Given the description of an element on the screen output the (x, y) to click on. 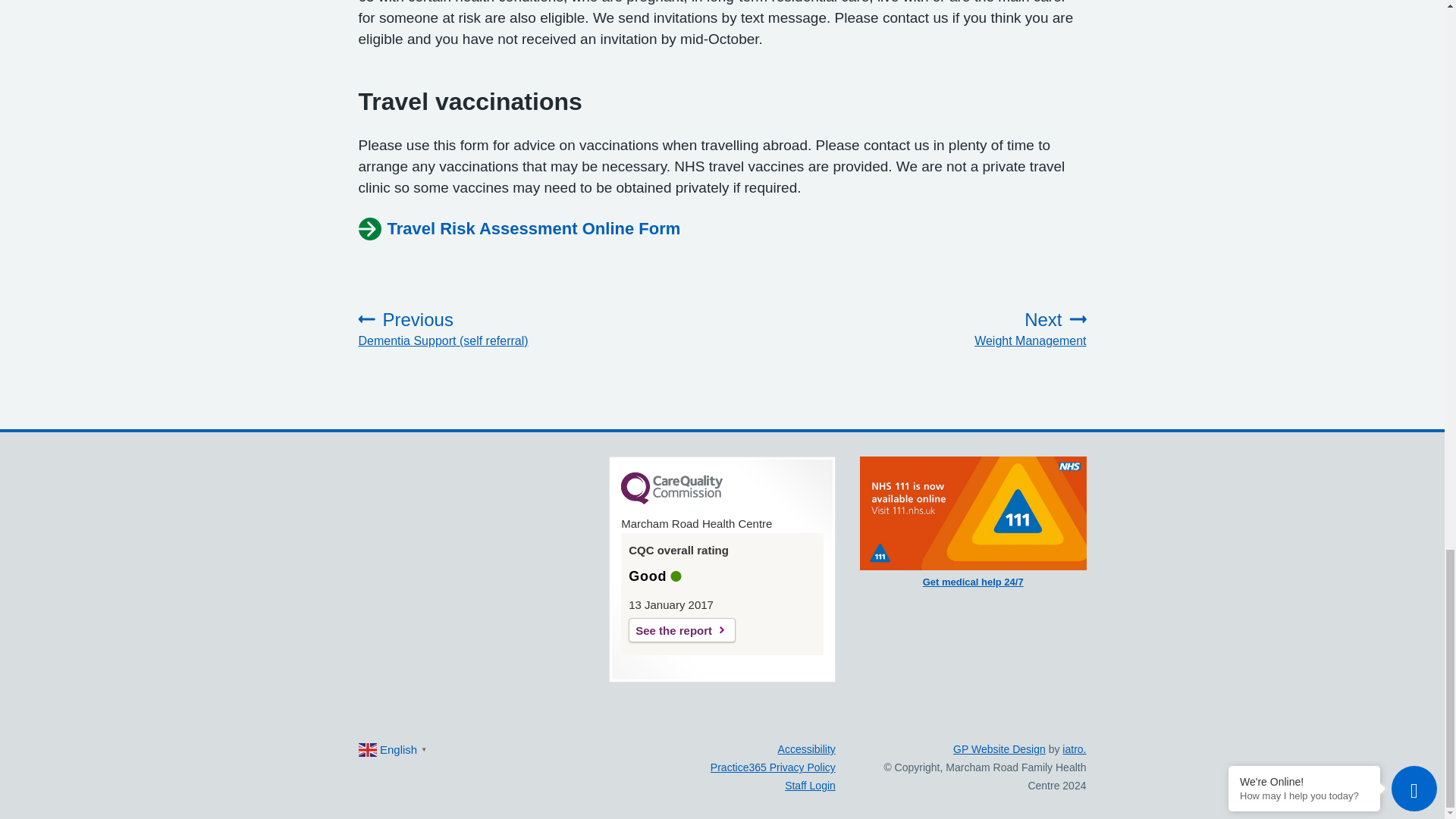
Travel Risk Assessment Online Form (976, 328)
See the report (518, 228)
CQC Logo (681, 630)
